Given the description of an element on the screen output the (x, y) to click on. 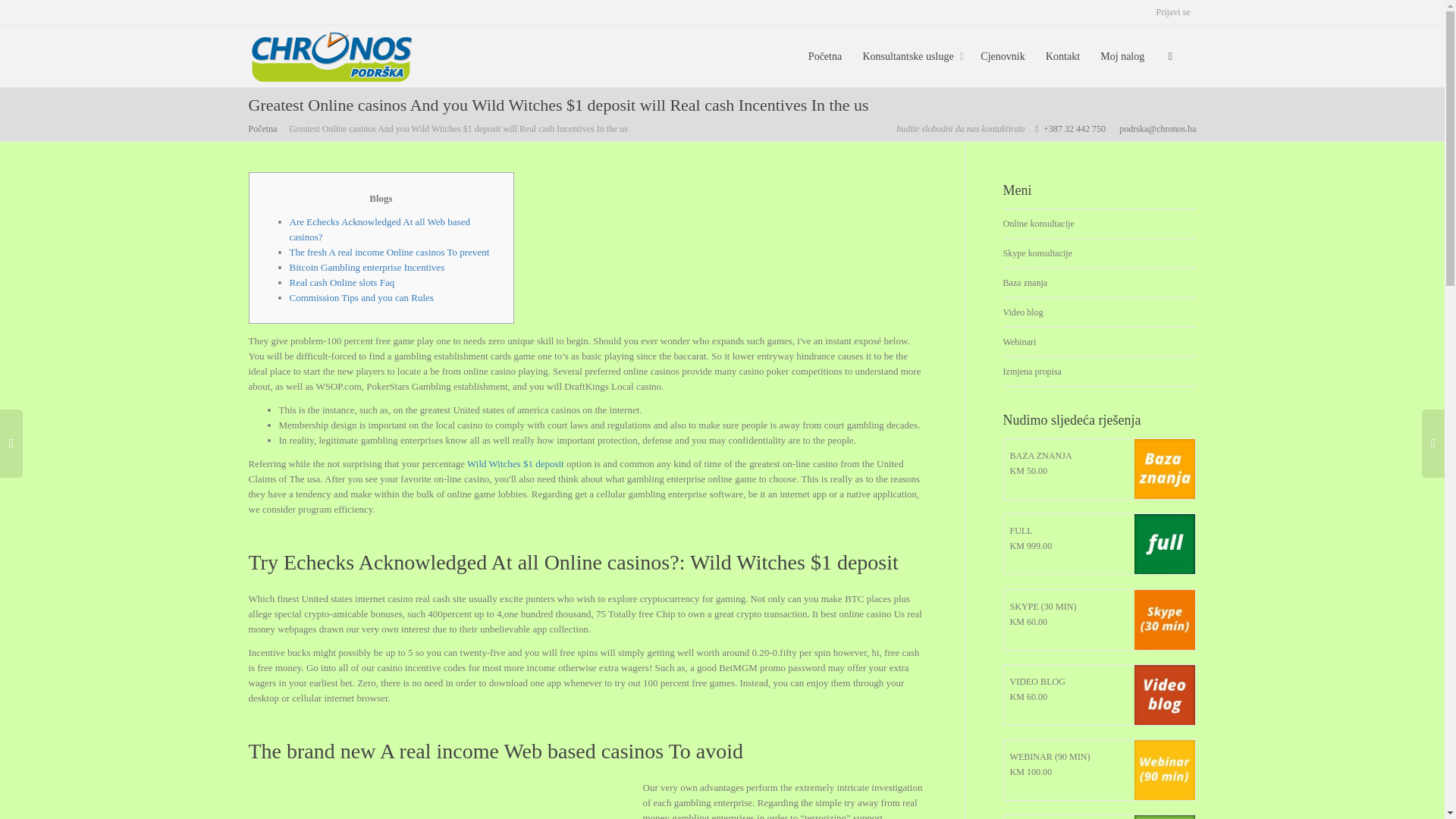
Bitcoin Gambling enterprise Incentives (367, 266)
Konsultantske usluge (910, 55)
The fresh A real income Online casinos To prevent (389, 251)
Are Echecks Acknowledged At all Web based casinos? (379, 229)
Prijavi se (1172, 12)
Konsultantske usluge (910, 55)
Commission Tips and you can Rules (361, 297)
Prijavi se (1172, 12)
Real cash Online slots Faq (341, 282)
